Given the description of an element on the screen output the (x, y) to click on. 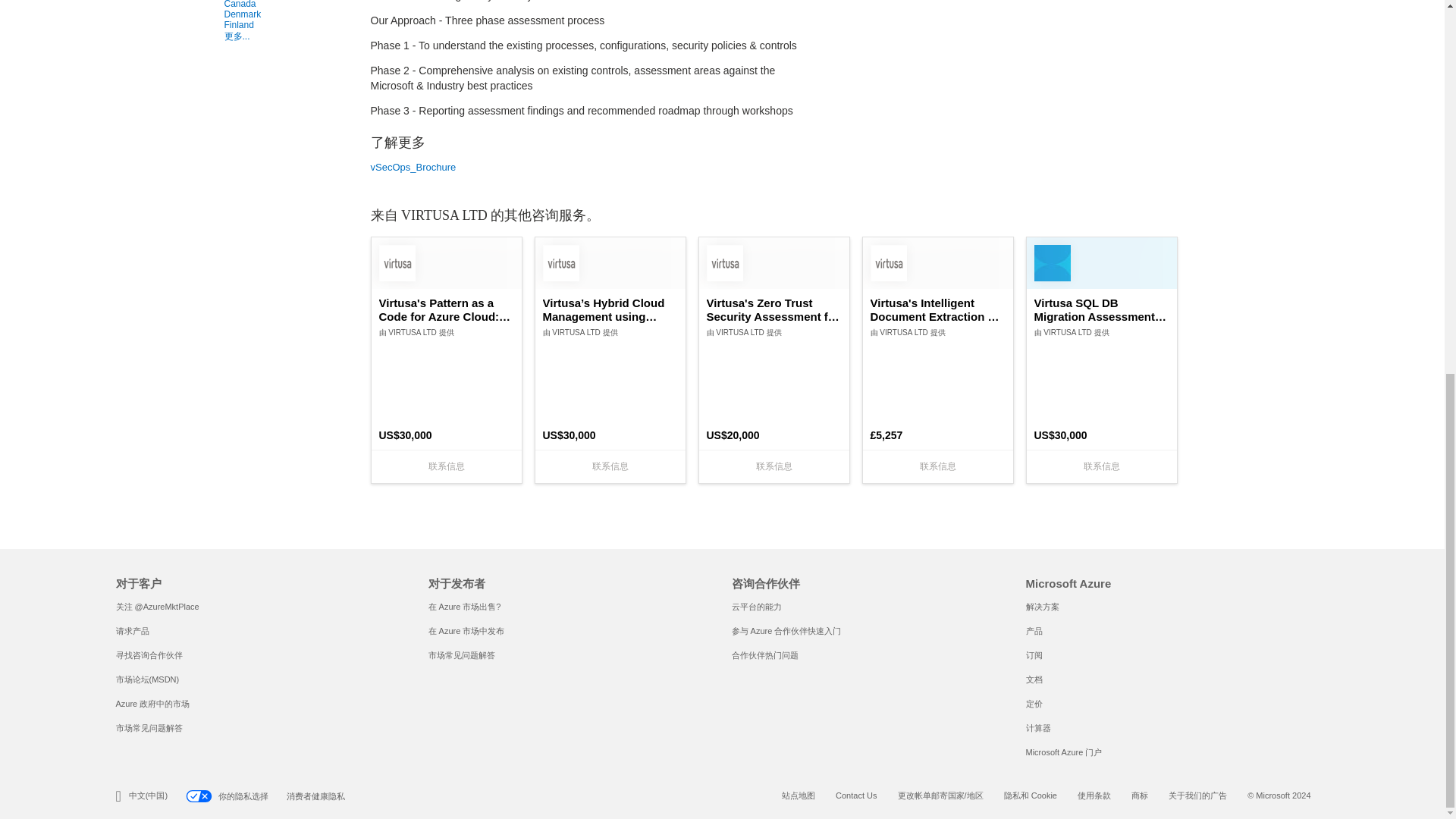
Virtusa SQL DB Migration Assessment in 4 weeks (1101, 309)
